Given the description of an element on the screen output the (x, y) to click on. 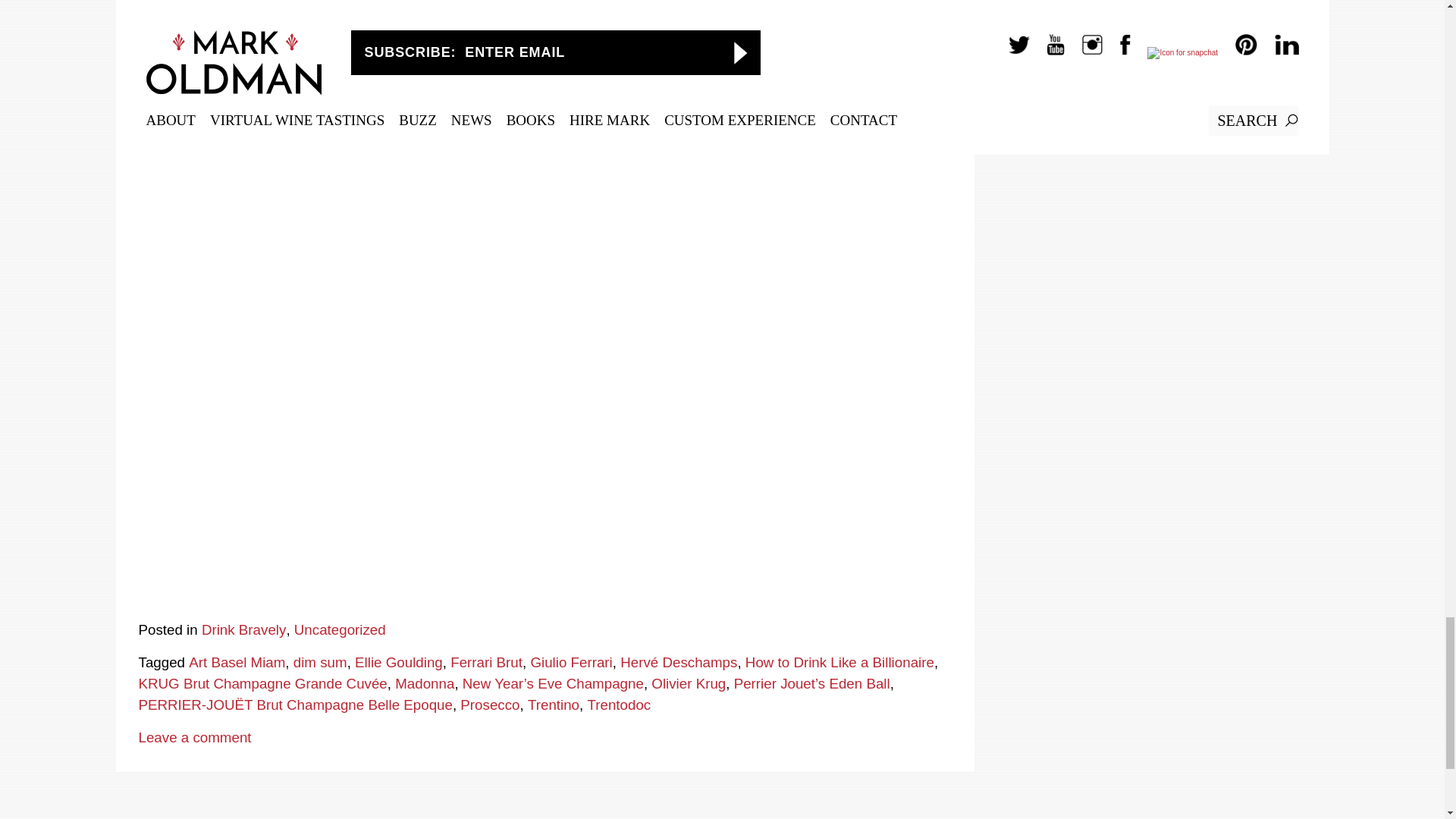
Uncategorized (339, 629)
dim sum (320, 662)
Giulio Ferrari (570, 662)
Ferrari Brut (485, 662)
How to Drink Like a Billionaire (839, 662)
Madonna (424, 683)
Drink Bravely (243, 629)
Ellie Goulding (398, 662)
Art Basel Miam (237, 662)
